Given the description of an element on the screen output the (x, y) to click on. 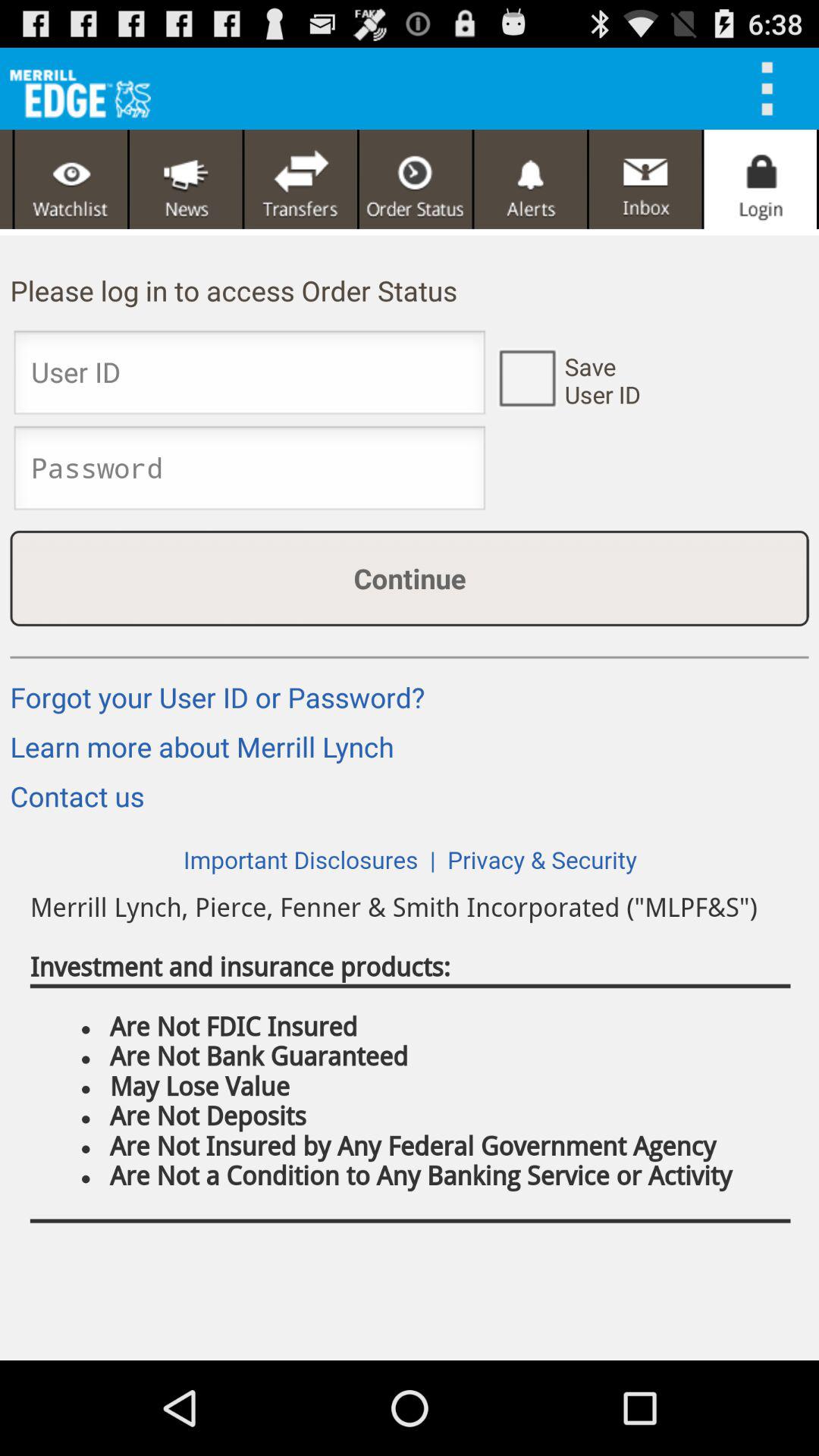
user id box (249, 376)
